Given the description of an element on the screen output the (x, y) to click on. 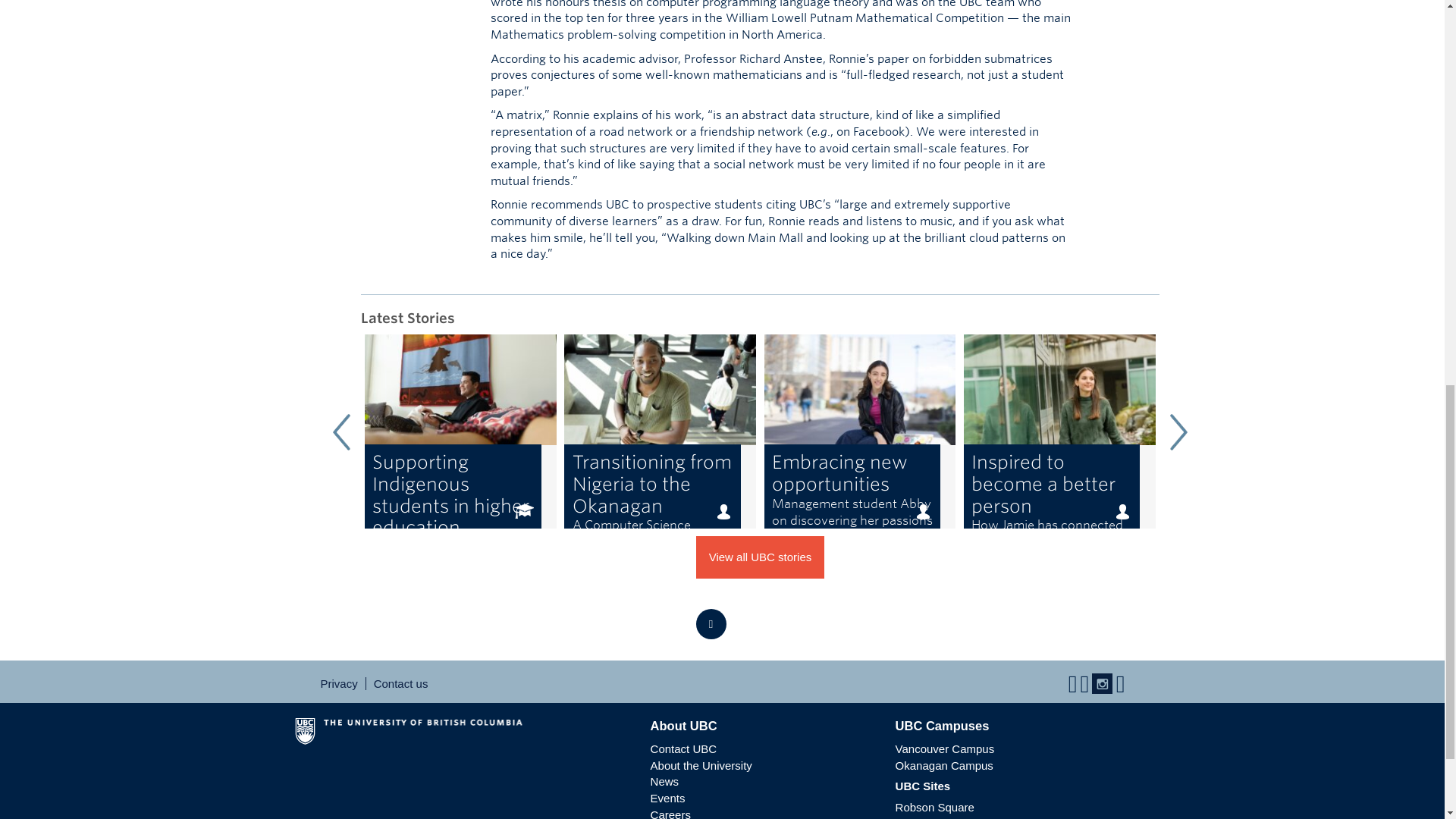
Back to top (710, 624)
Instagram icon (460, 431)
